Given the description of an element on the screen output the (x, y) to click on. 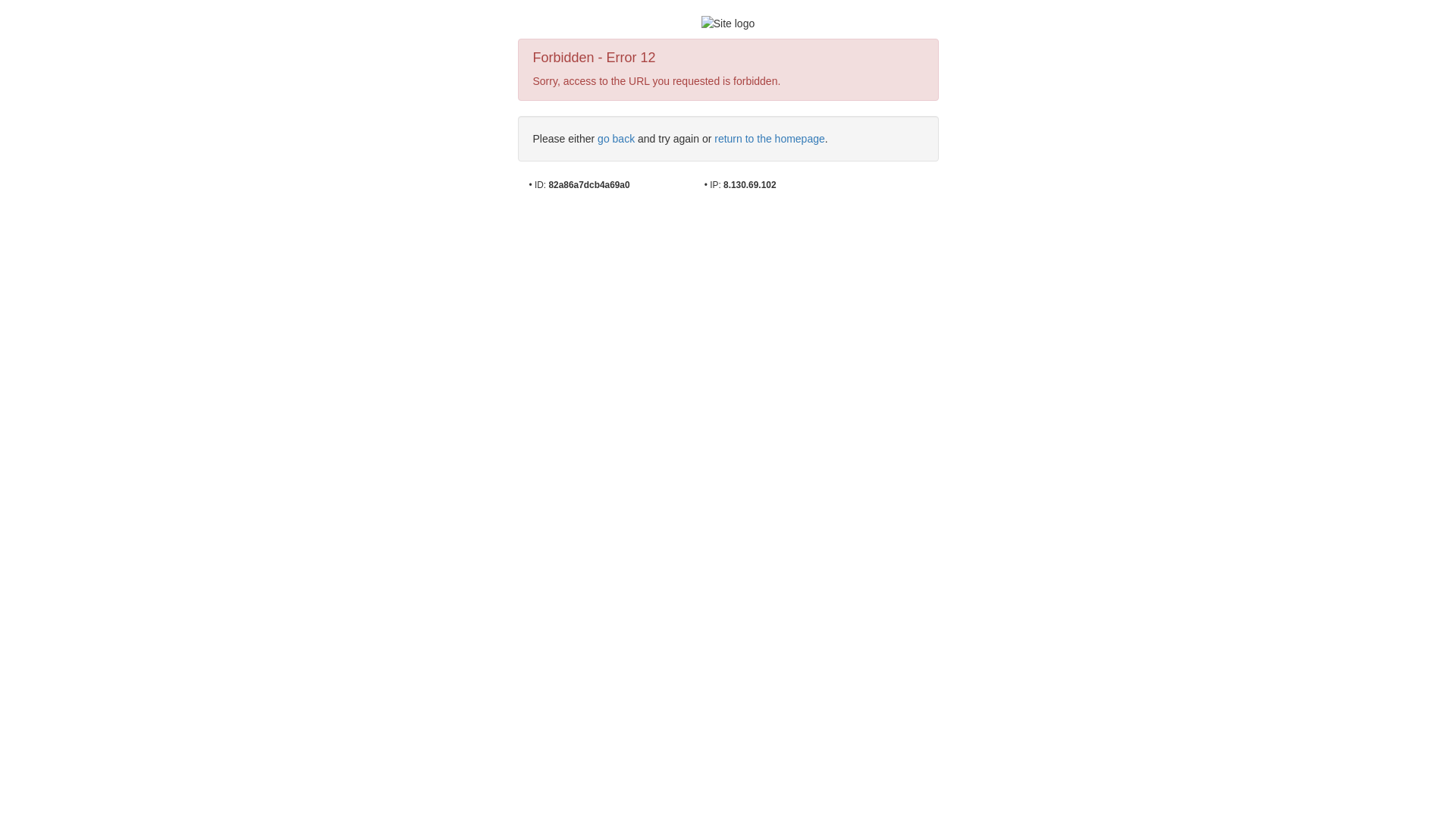
return to the homepage Element type: text (769, 138)
go back Element type: text (615, 138)
